Given the description of an element on the screen output the (x, y) to click on. 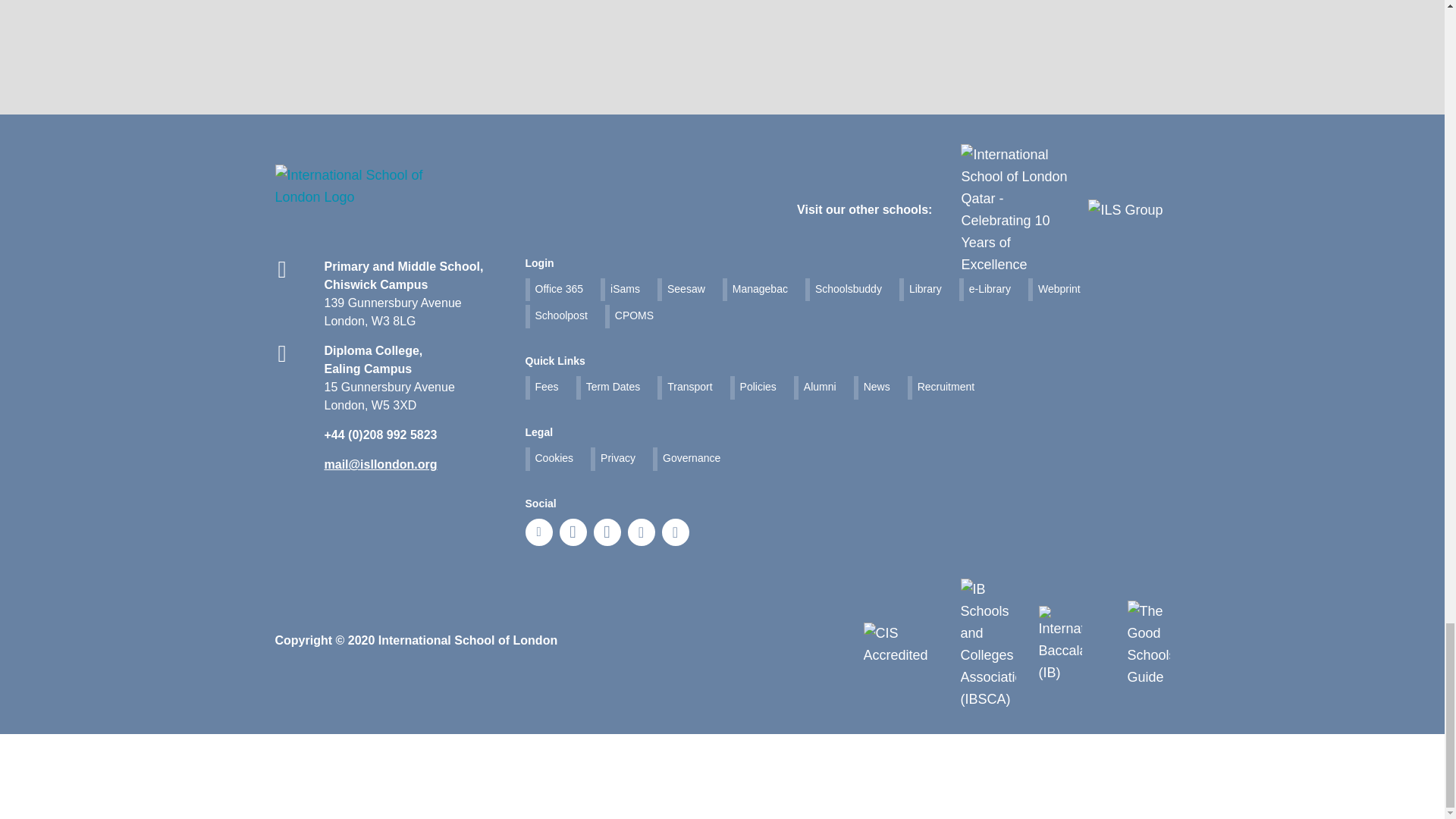
Powered by Finalsite opens in a new window (50, 808)
